Given the description of an element on the screen output the (x, y) to click on. 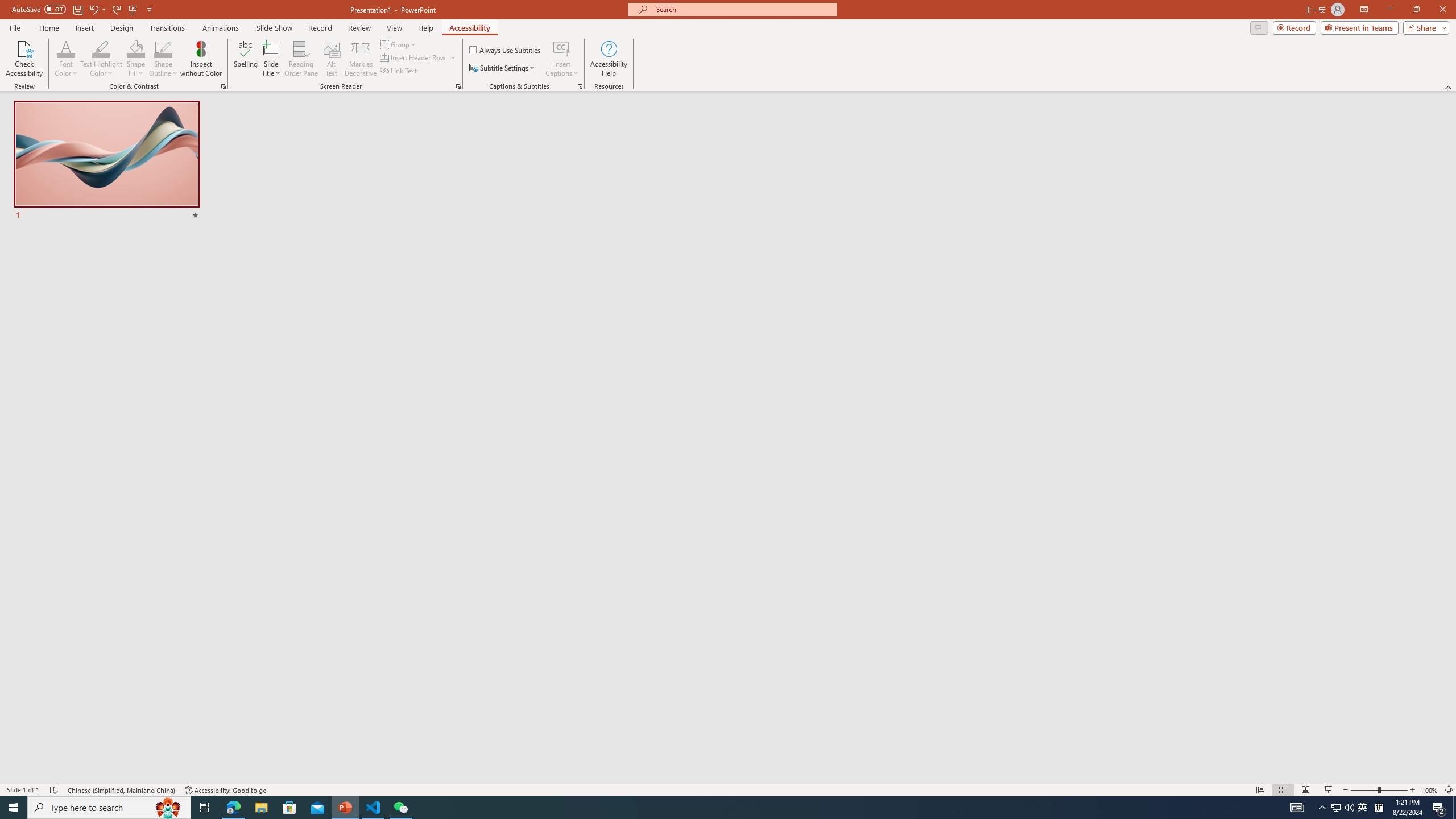
Inspect without Color (201, 58)
Insert Captions (561, 48)
Captions & Subtitles (580, 85)
Insert Header Row (413, 56)
